Given the description of an element on the screen output the (x, y) to click on. 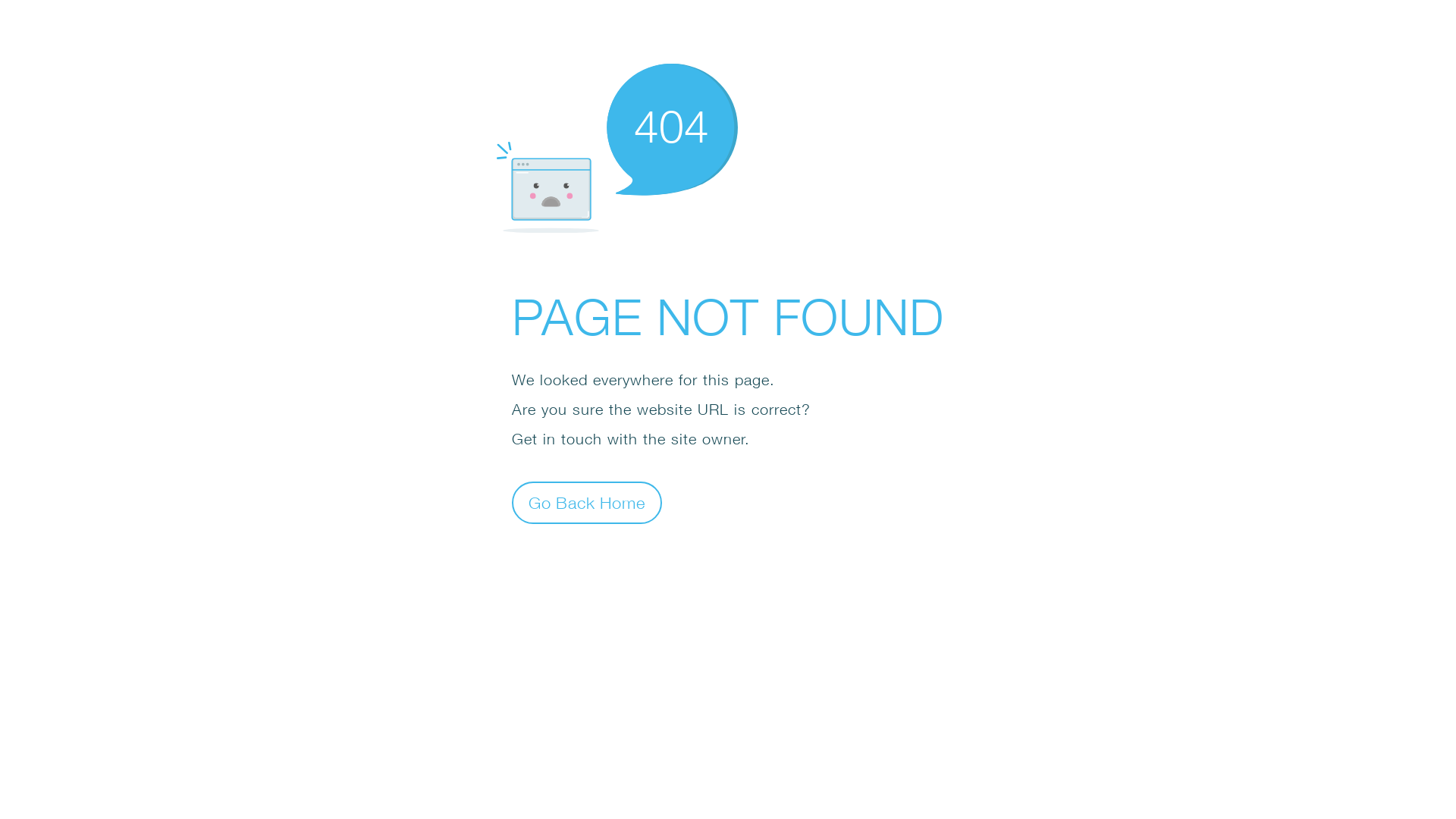
Go Back Home Element type: text (586, 502)
